Given the description of an element on the screen output the (x, y) to click on. 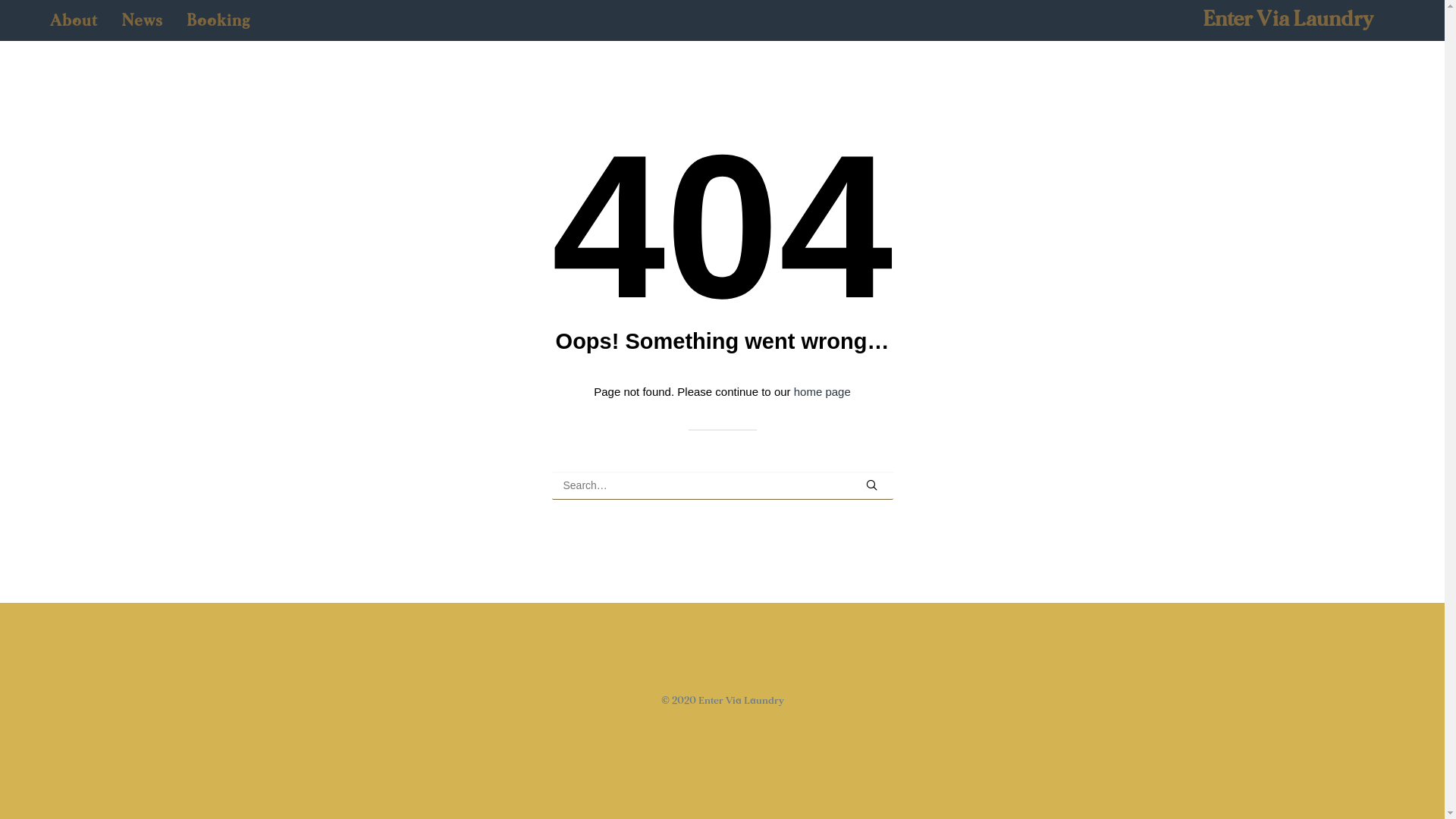
home page Element type: text (821, 391)
Enter Via Laundry Element type: text (1287, 19)
News Element type: text (141, 20)
Booking Element type: text (212, 20)
About Element type: text (79, 20)
Search for: Element type: hover (722, 485)
